Given the description of an element on the screen output the (x, y) to click on. 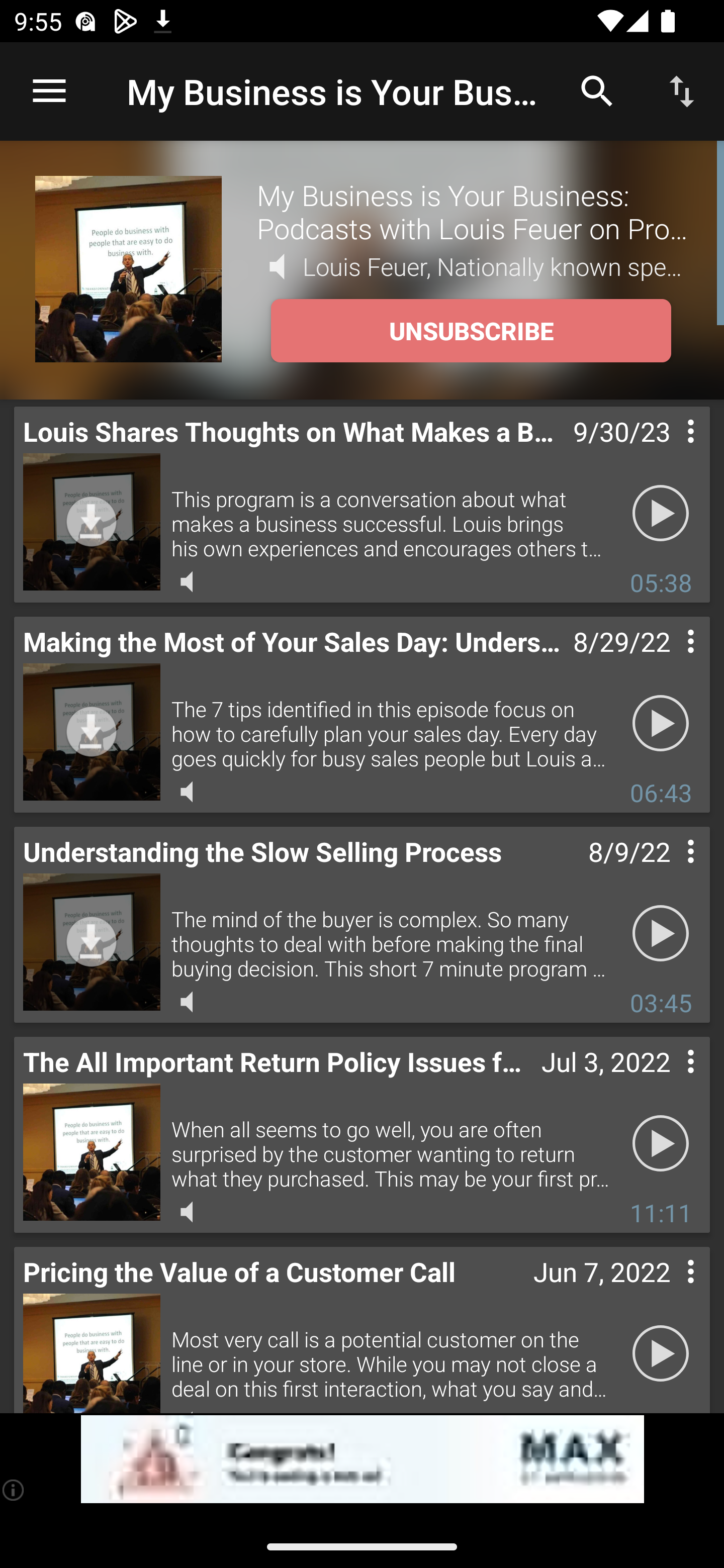
Open navigation sidebar (49, 91)
Search (597, 90)
Sort (681, 90)
UNSUBSCRIBE (470, 330)
Contextual menu (668, 451)
Play (660, 513)
Contextual menu (668, 661)
Play (660, 723)
Contextual menu (668, 870)
Play (660, 933)
Contextual menu (668, 1080)
Play (660, 1143)
Contextual menu (668, 1290)
Play (660, 1353)
app-monetization (362, 1459)
(i) (14, 1489)
